Given the description of an element on the screen output the (x, y) to click on. 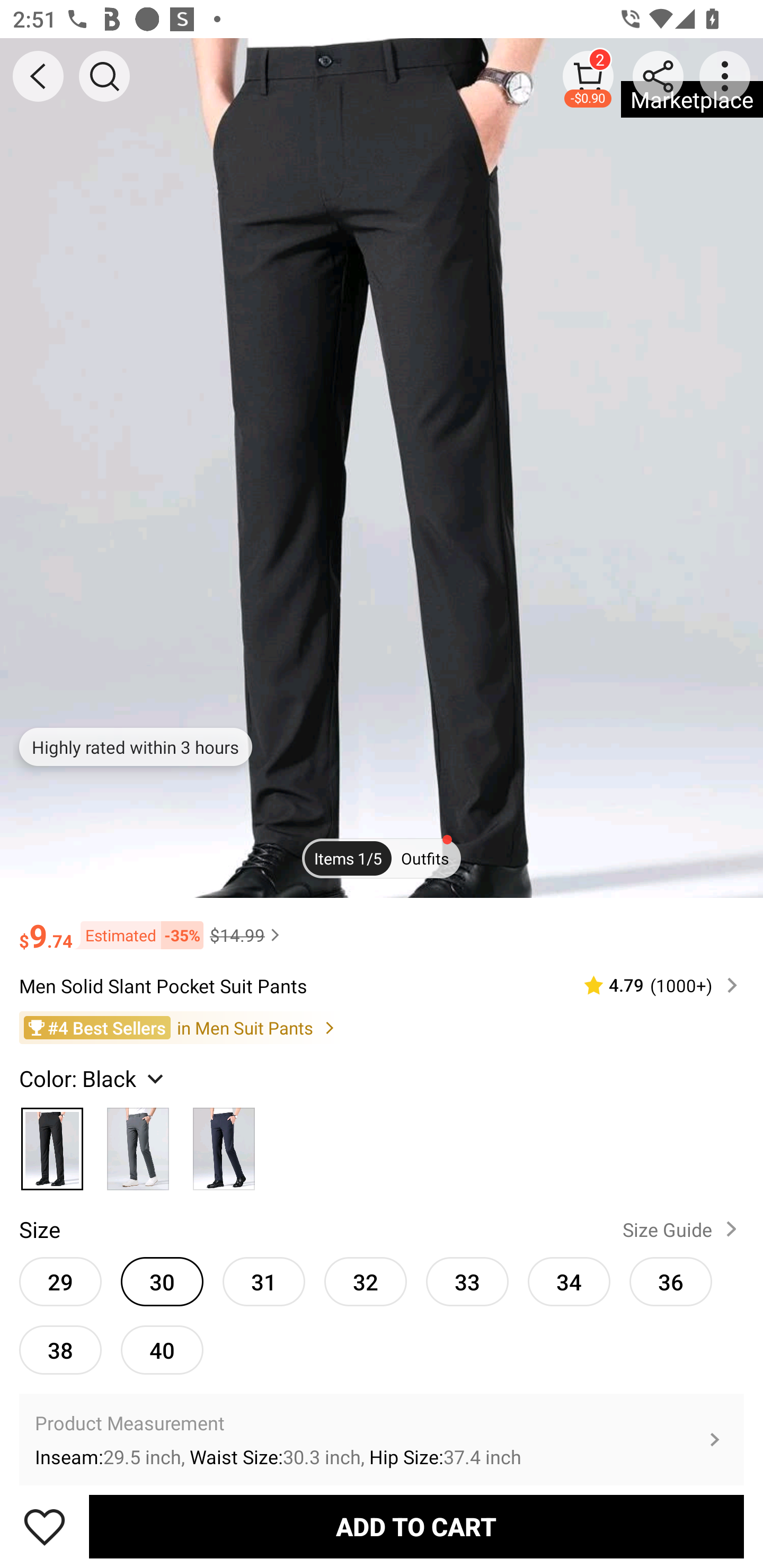
BACK (38, 75)
2 -$0.90 (588, 75)
Items 1/5 (347, 857)
Outfits (424, 857)
$9.74 Estimated -35% $14.99 (381, 927)
Estimated -35% (137, 934)
$14.99 (246, 935)
4.79 (1000‎+) (653, 984)
#4 Best Sellers in Men Suit Pants (381, 1027)
Color: Black (93, 1077)
Black (52, 1143)
Grey (138, 1143)
Navy Blue (224, 1143)
Size (39, 1228)
Size Guide (682, 1228)
29 29unselected option (60, 1281)
30 30selected option (161, 1281)
31 31unselected option (263, 1281)
32 32unselected option (365, 1281)
33 33unselected option (466, 1281)
34 34unselected option (568, 1281)
36 36unselected option (670, 1281)
38 38unselected option (60, 1349)
40 40unselected option (161, 1349)
ADD TO CART (416, 1526)
Save (44, 1526)
